Given the description of an element on the screen output the (x, y) to click on. 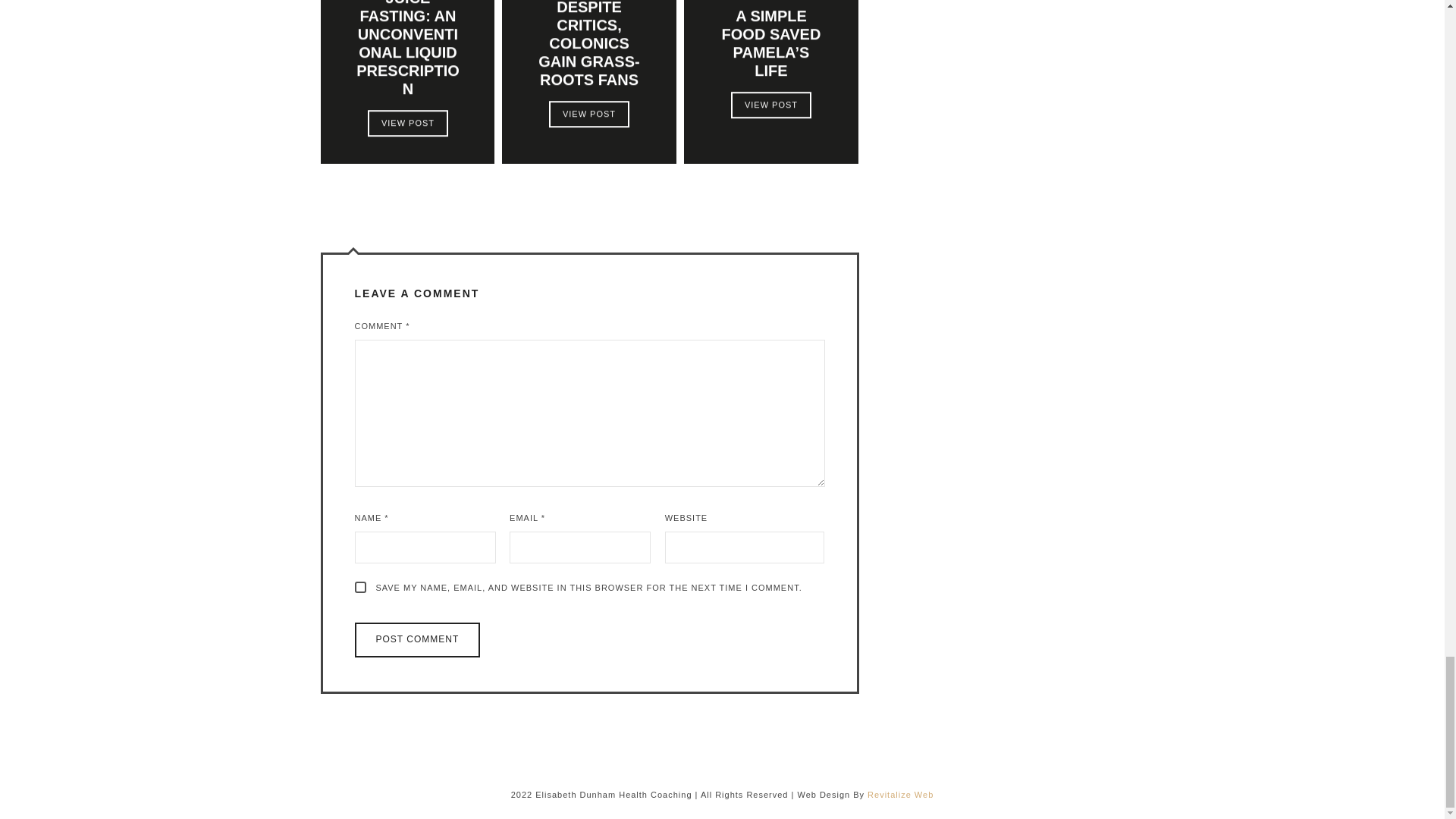
VIEW POST (588, 113)
JUICE FASTING: AN UNCONVENTIONAL LIQUID PRESCRIPTION (407, 48)
Post Comment (417, 639)
yes (360, 586)
DESPITE CRITICS, COLONICS GAIN GRASS-ROOTS FANS (589, 44)
VIEW POST (406, 122)
